Given the description of an element on the screen output the (x, y) to click on. 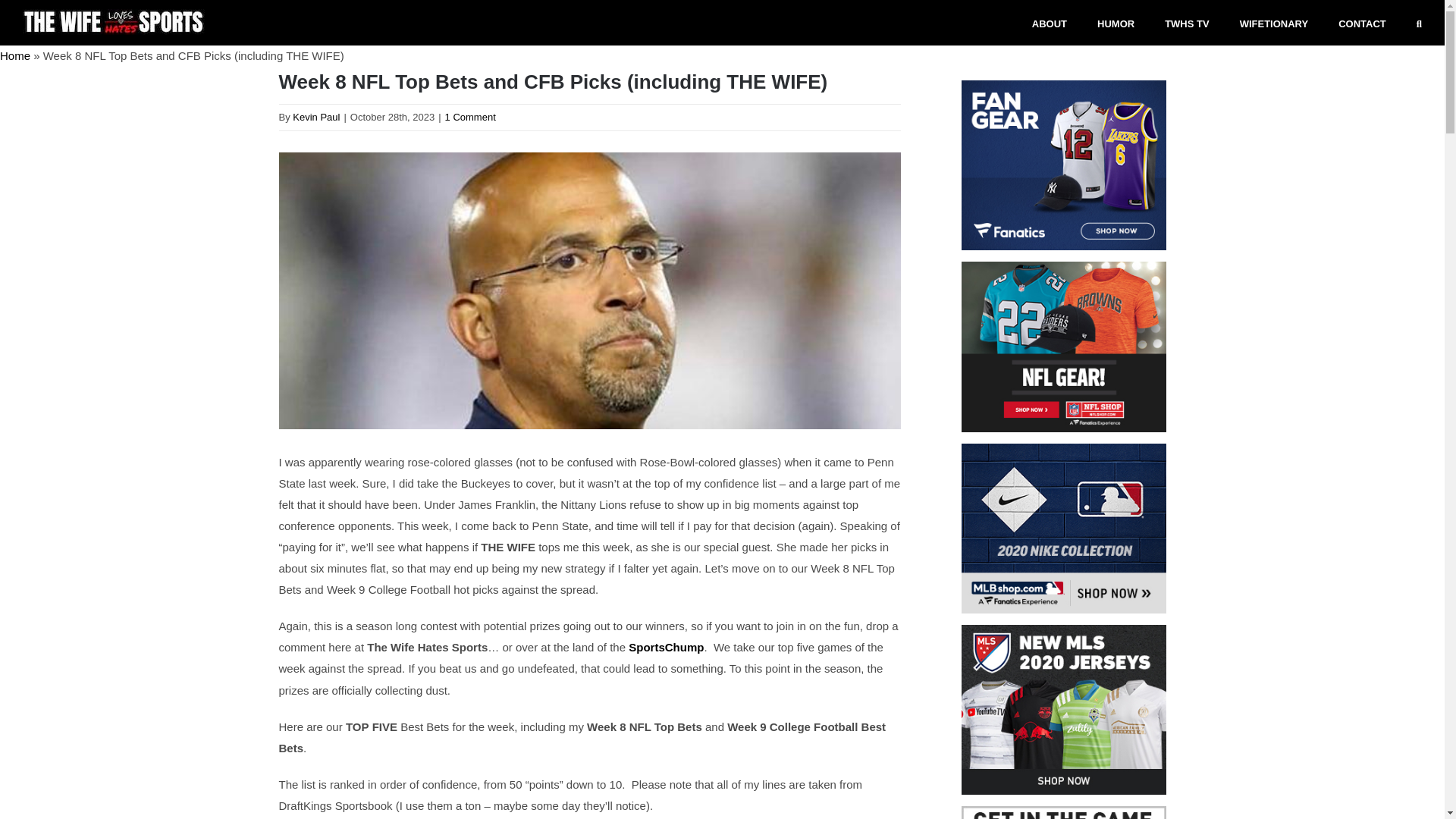
Kevin Paul (315, 116)
TWHS TV (1186, 22)
WIFETIONARY (1274, 22)
1 Comment (470, 116)
Home (15, 55)
Posts by Kevin Paul (315, 116)
SportsChump (665, 646)
CONTACT (1362, 22)
